Given the description of an element on the screen output the (x, y) to click on. 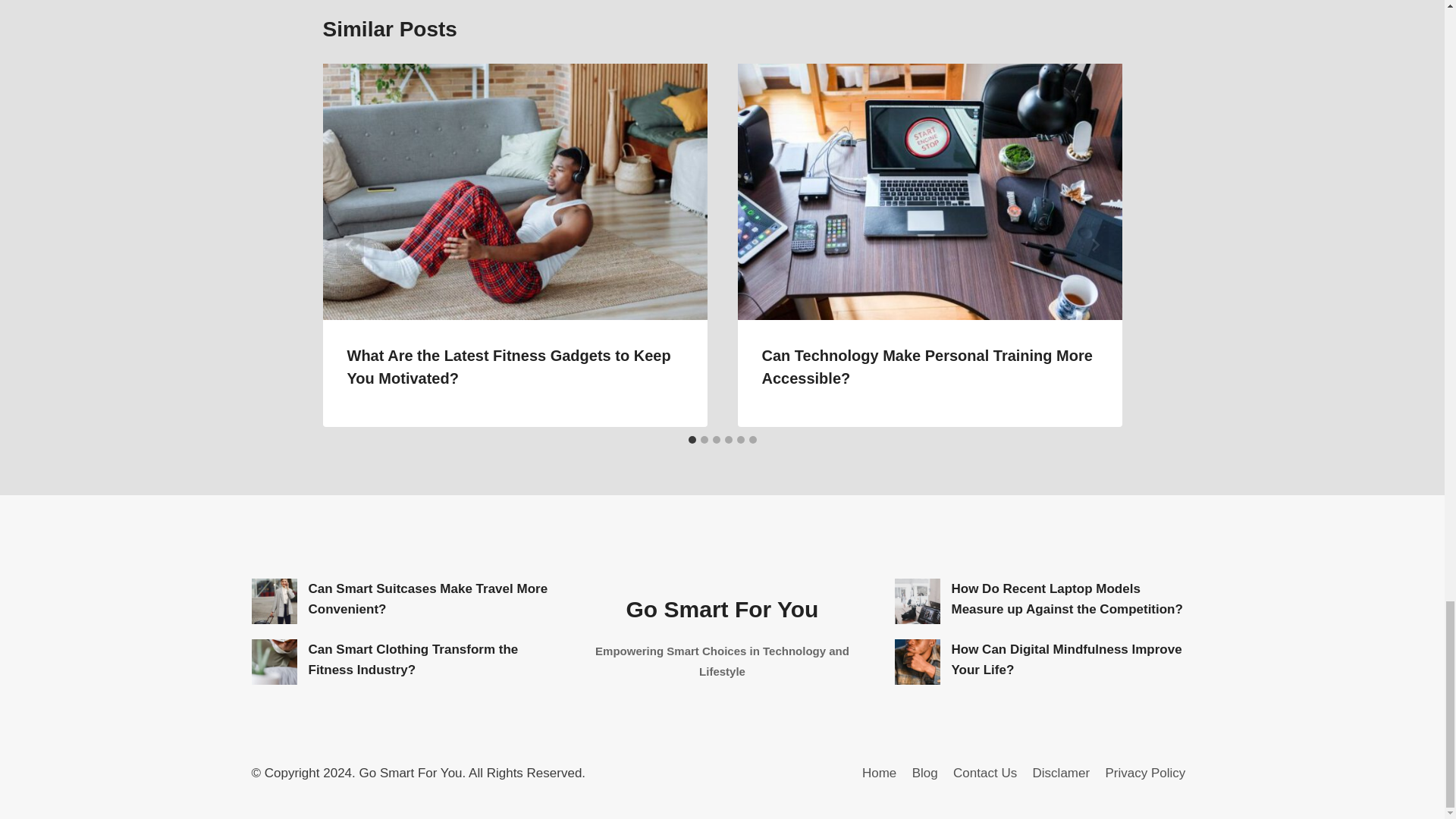
Can Smart Clothing Transform the Fitness Industry? (274, 660)
How Can Digital Mindfulness Improve Your Life? (917, 660)
Can Technology Make Personal Training More Accessible? (926, 366)
Can Smart Suitcases Make Travel More Convenient? (274, 600)
What Are the Latest Fitness Gadgets to Keep You Motivated? (509, 366)
